Given the description of an element on the screen output the (x, y) to click on. 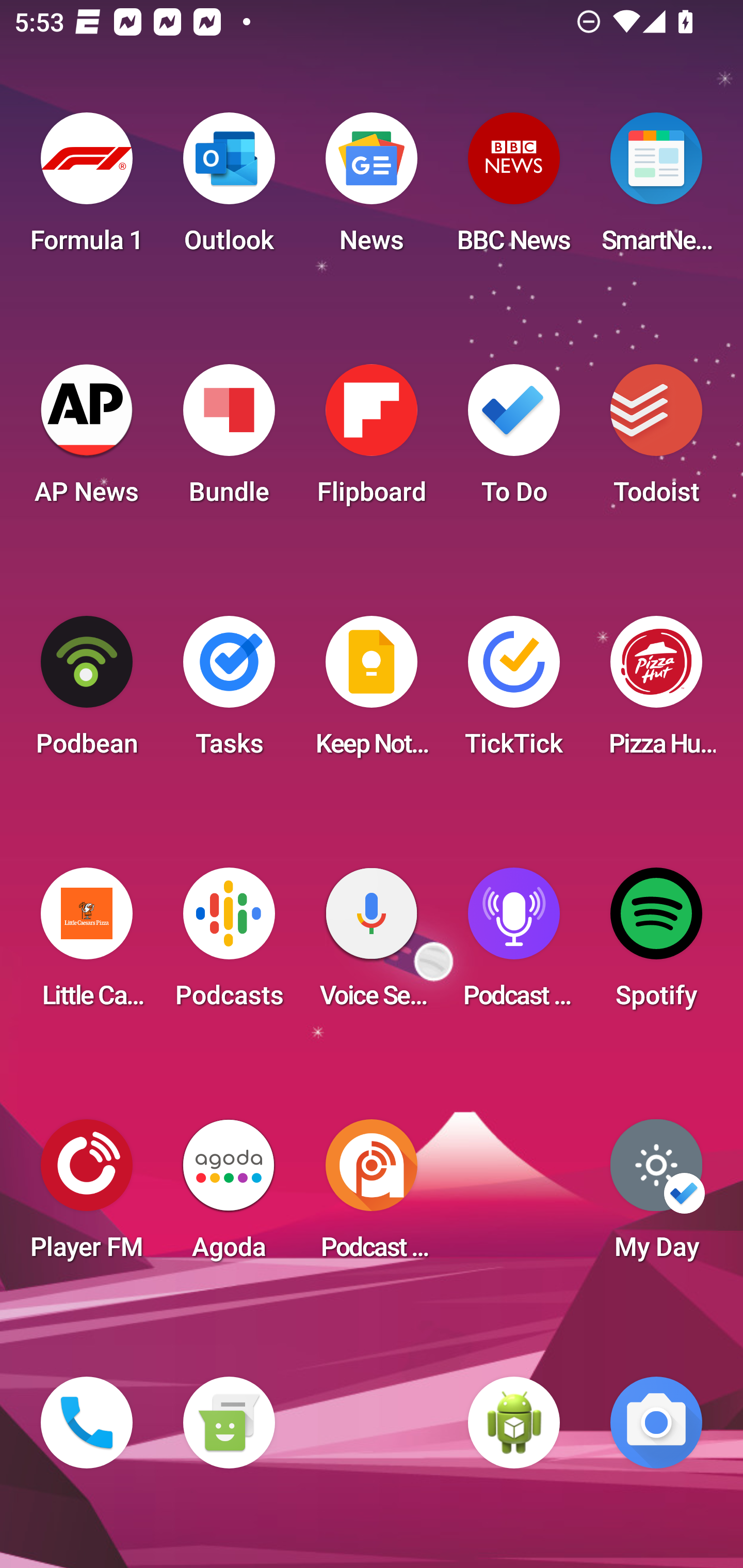
Formula 1 (86, 188)
Outlook (228, 188)
News (371, 188)
BBC News (513, 188)
SmartNews (656, 188)
AP News (86, 440)
Bundle (228, 440)
Flipboard (371, 440)
To Do (513, 440)
Todoist (656, 440)
Podbean (86, 692)
Tasks (228, 692)
Keep Notes (371, 692)
TickTick (513, 692)
Pizza Hut HK & Macau (656, 692)
Little Caesars Pizza (86, 943)
Podcasts (228, 943)
Voice Search (371, 943)
Podcast Player (513, 943)
Spotify (656, 943)
Player FM (86, 1195)
Agoda (228, 1195)
Podcast Addict (371, 1195)
My Day (656, 1195)
Phone (86, 1422)
Messaging (228, 1422)
WebView Browser Tester (513, 1422)
Camera (656, 1422)
